Given the description of an element on the screen output the (x, y) to click on. 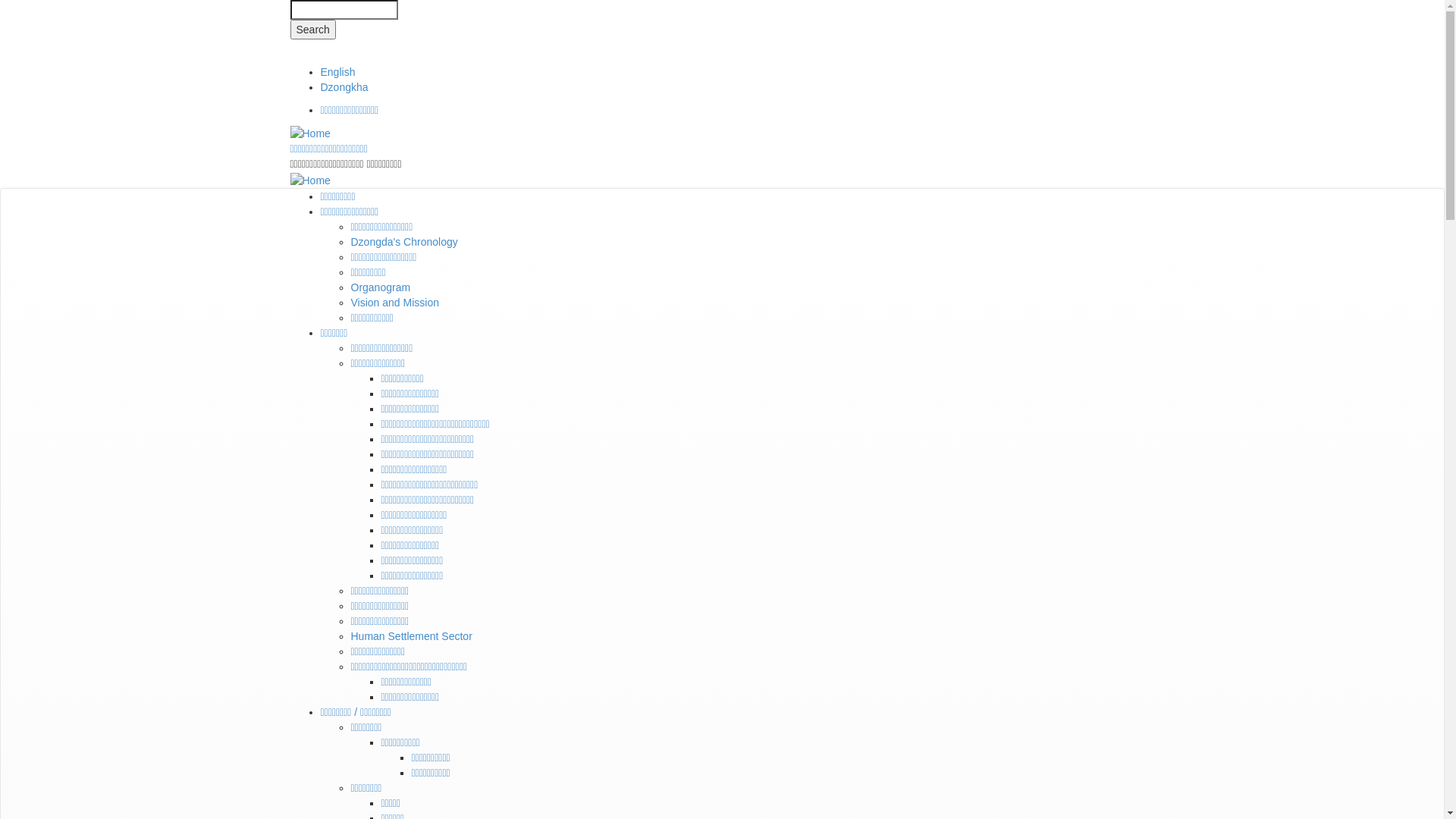
A Element type: text (1102, 53)
Organogram Element type: text (380, 287)
English Element type: text (337, 71)
Enter the terms you wish to search for. Element type: hover (343, 9)
Dzongkha Element type: text (343, 87)
Search Element type: text (312, 29)
Home Element type: hover (309, 132)
Home Element type: hover (309, 178)
Human Settlement Sector Element type: text (410, 636)
Vision and Mission Element type: text (394, 302)
Dzongda's Chronology Element type: text (403, 241)
A Element type: text (1145, 56)
A Element type: text (1125, 55)
Skip to main content Element type: text (0, 0)
